Given the description of an element on the screen output the (x, y) to click on. 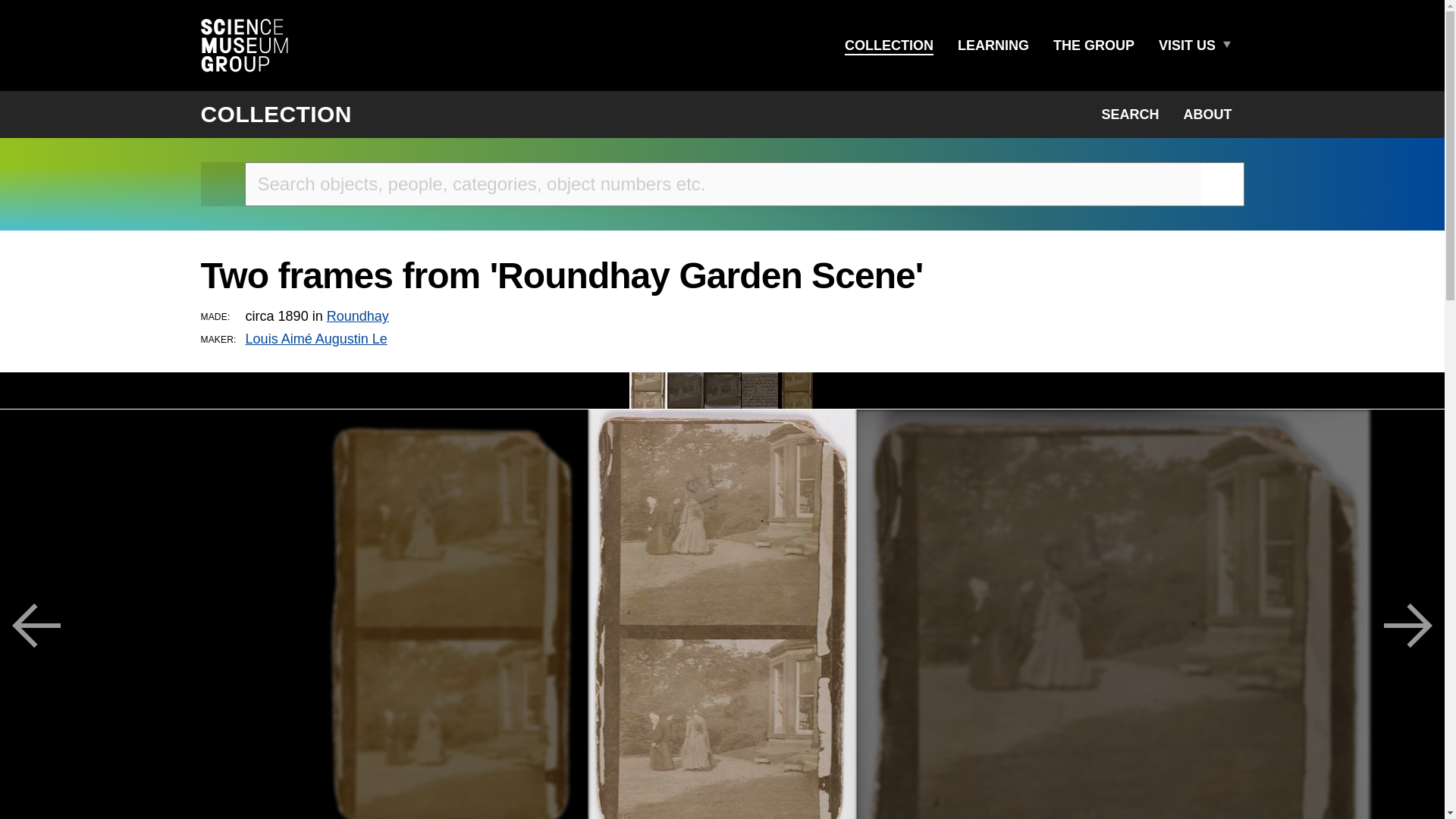
Back to the home page (222, 184)
SEARCH (1129, 114)
ABOUT (1206, 114)
Roundhay (357, 315)
VISIT US (1187, 45)
THE GROUP (1094, 45)
LEARNING (992, 45)
COLLECTION (888, 45)
COLLECTION (276, 113)
